Given the description of an element on the screen output the (x, y) to click on. 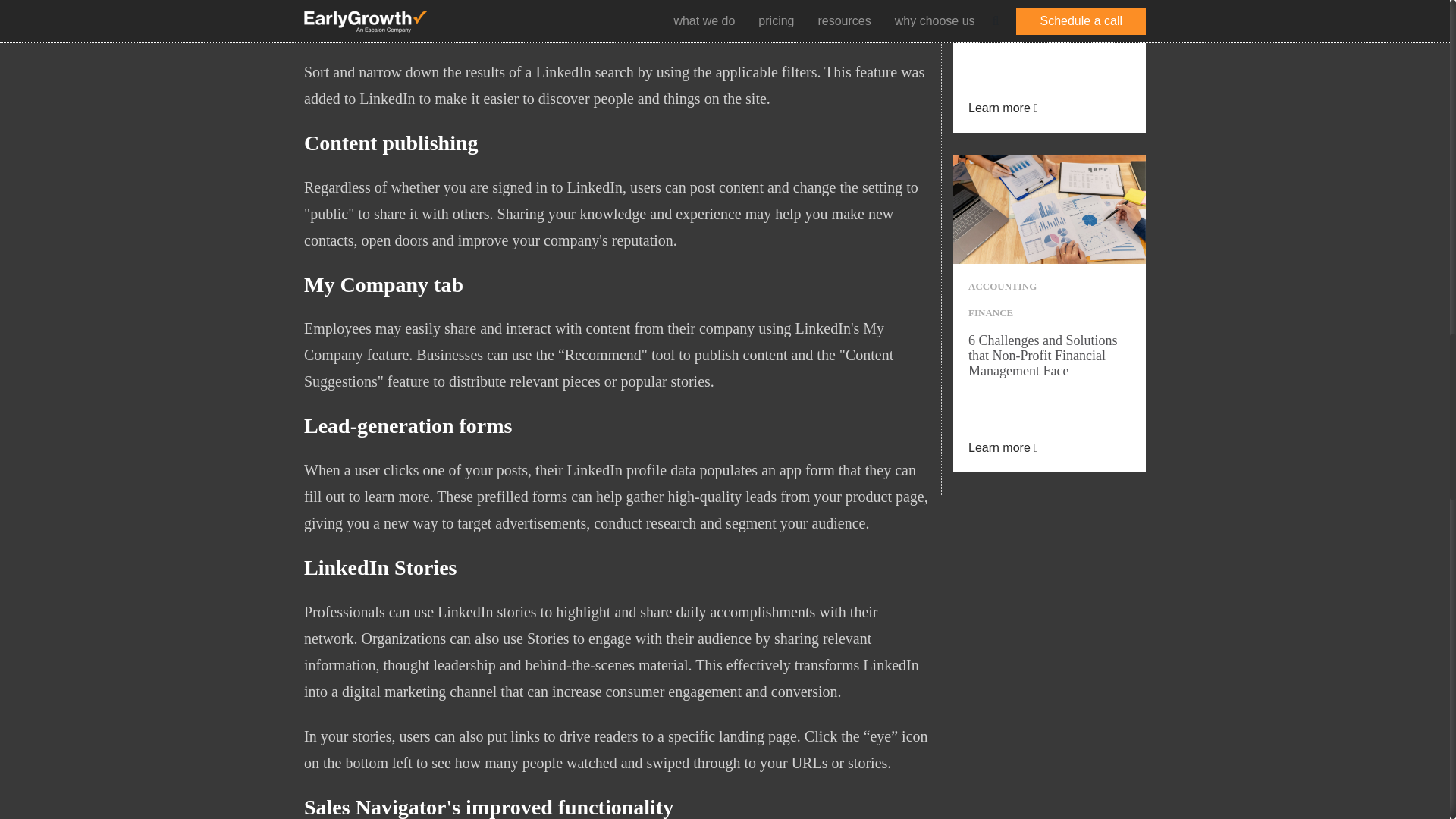
Financial Management (1049, 209)
